Given the description of an element on the screen output the (x, y) to click on. 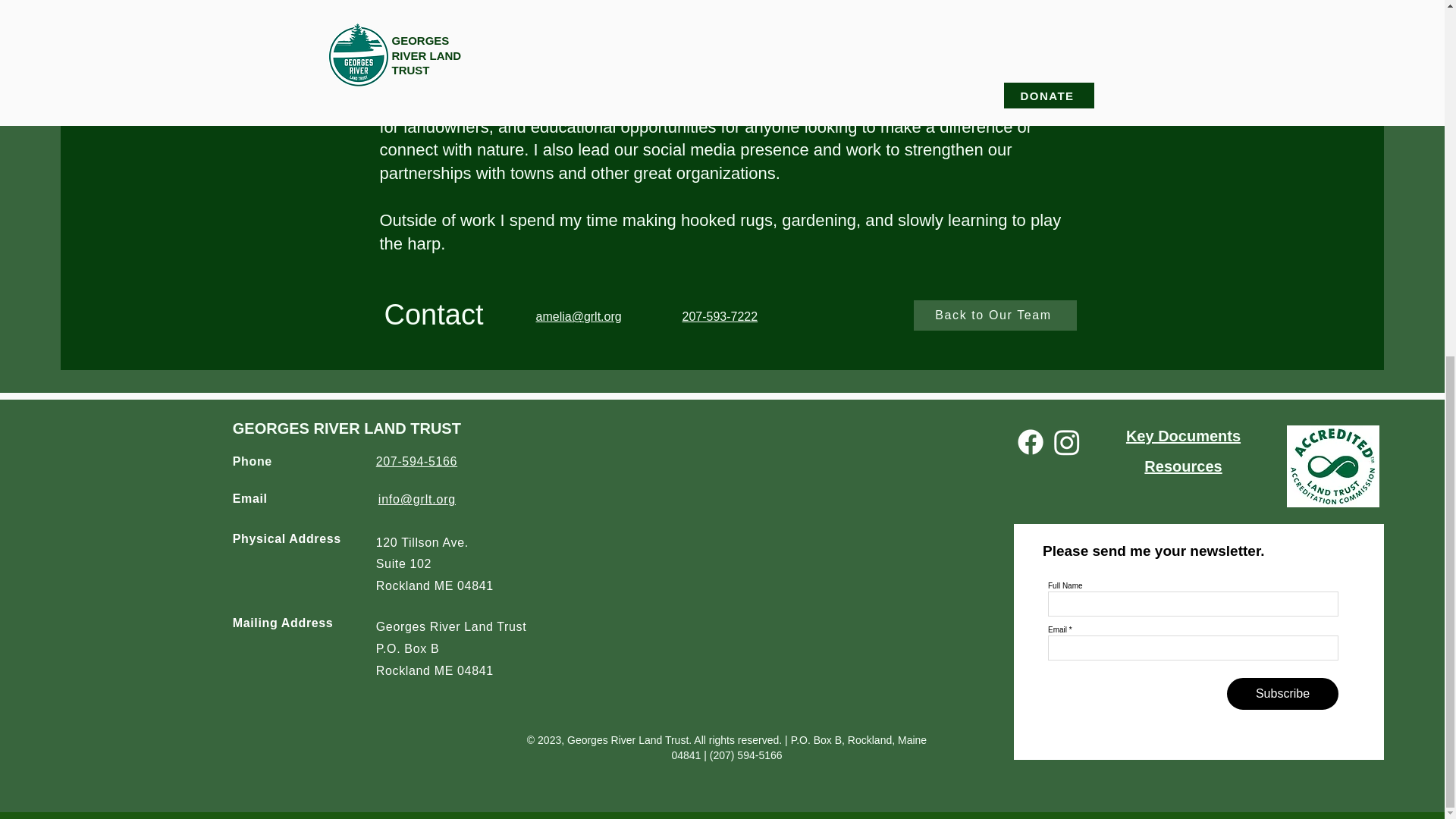
207-593-7222 (720, 316)
Resources (1182, 466)
Physical Address (286, 538)
Key Documents (1182, 435)
Back to Our Team (993, 315)
Phone (252, 461)
Subscribe (1282, 694)
GEORGES RIVER LAND TRUST (346, 428)
207-594-5166 (416, 461)
Mailing Address (282, 622)
